Given the description of an element on the screen output the (x, y) to click on. 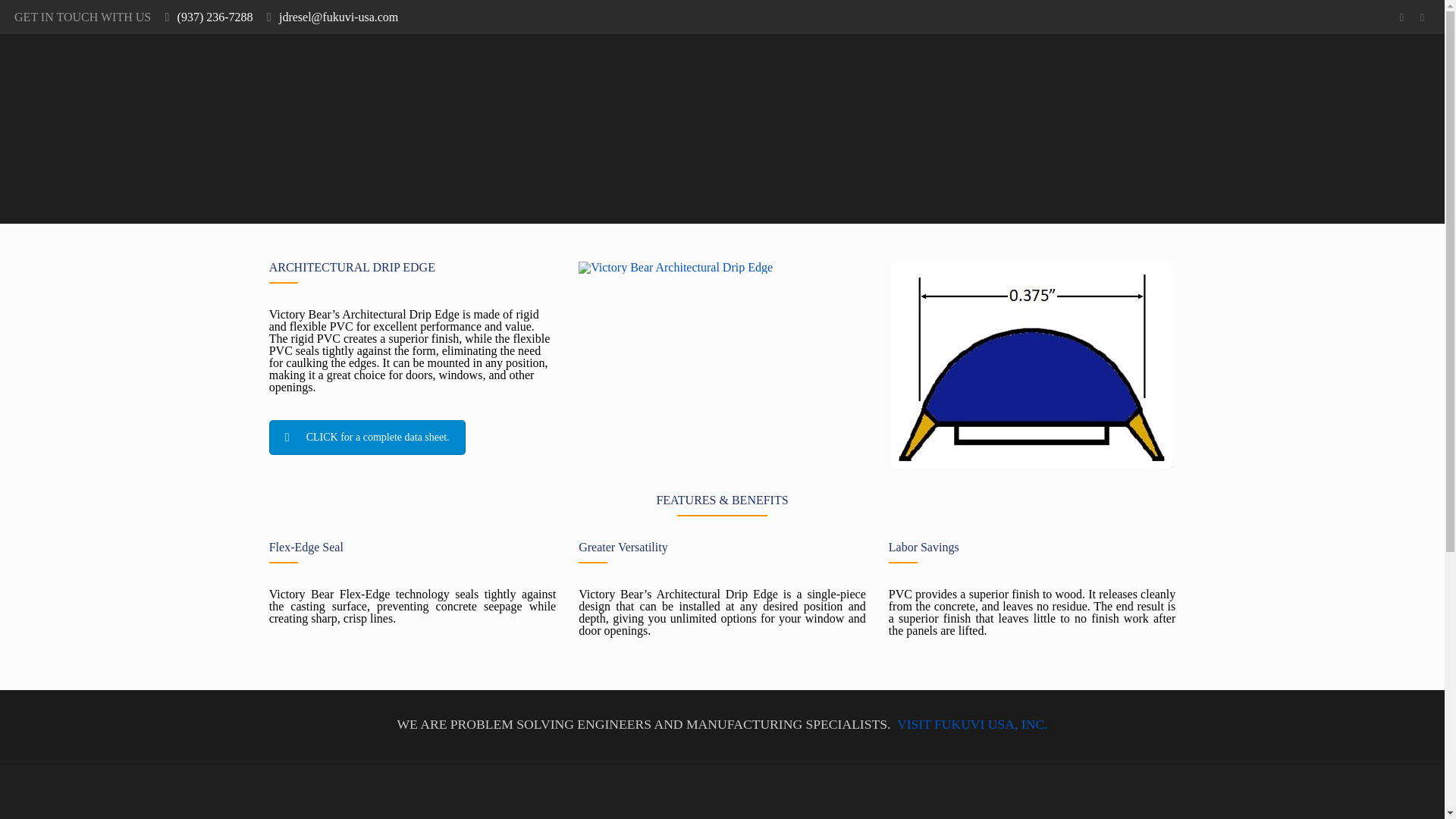
YouTube (1401, 17)
LinkedIn (1421, 17)
Arch. Drip Edge (675, 267)
Arch. Drip Edge Dimensions (1032, 364)
VISIT FUKUVI USA, INC. (972, 724)
CLICK for a complete data sheet. (367, 437)
